Given the description of an element on the screen output the (x, y) to click on. 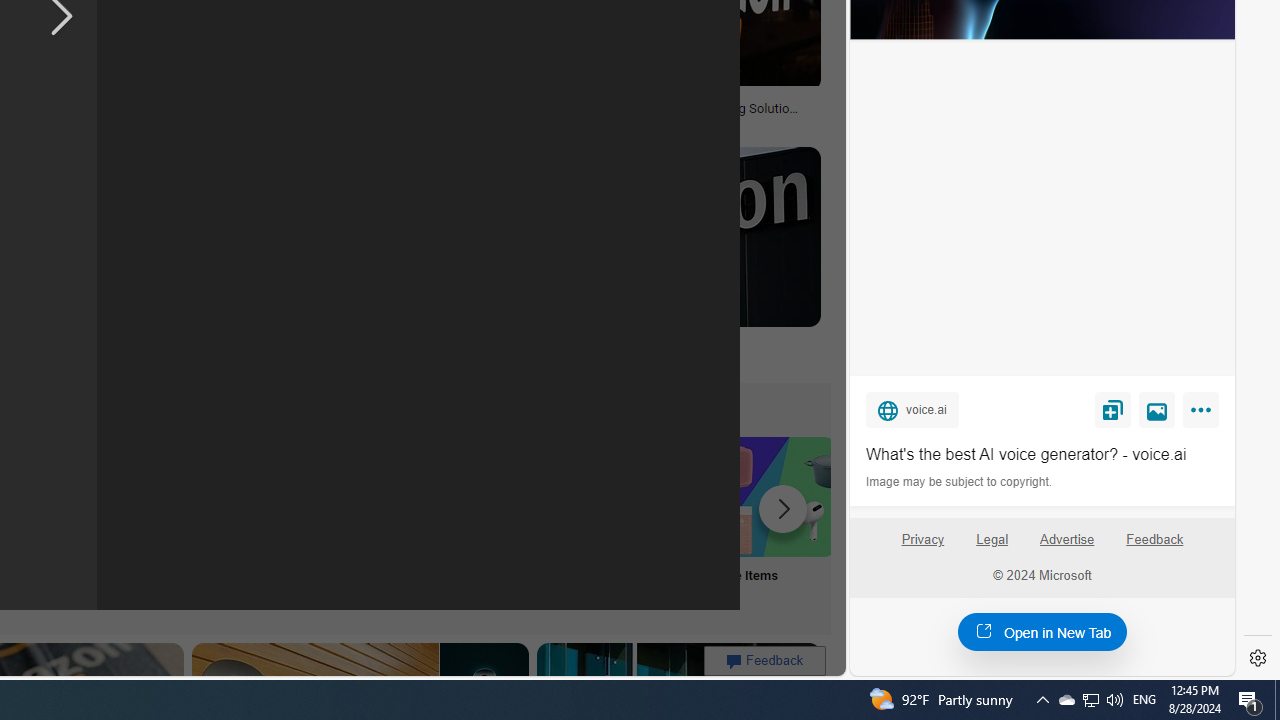
3d illustration of amazon logo 18779928 PNG (371, 114)
Amazon Visa Card Login Visa Card Login (643, 521)
Privacy (922, 547)
Mini TV (116, 521)
Open in New Tab (1042, 631)
Prime Shopping Online (380, 521)
Visa Card Login (643, 521)
cordcuttersnews.com (331, 359)
Amazon Prime Label Prime Label (511, 521)
